Given the description of an element on the screen output the (x, y) to click on. 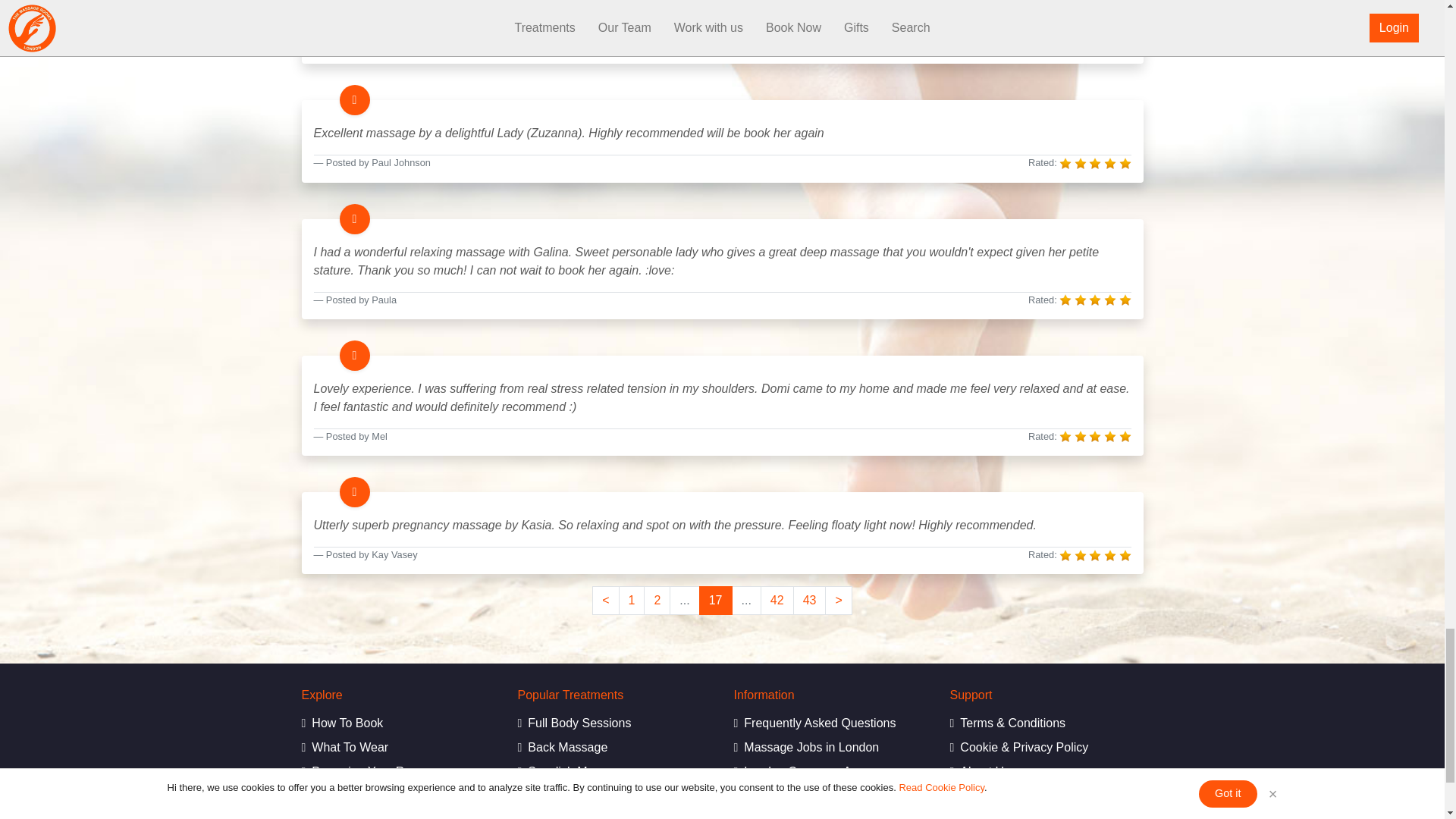
What To Wear During Your Massage (398, 747)
Thai Massage (613, 815)
Why You'll Love Our Massages (398, 815)
Deep Tissue Massage (613, 796)
What To Wear (398, 747)
Thai Massage (613, 815)
1 (631, 600)
Full Body Sessions (613, 723)
Customer Reviews (398, 796)
42 (776, 600)
London Coverage Areas (830, 771)
How To Book A Mobile Massage (398, 723)
Why You'll Love Our Massages (398, 815)
Preparing Your Room (398, 771)
About Us (1045, 771)
